Given the description of an element on the screen output the (x, y) to click on. 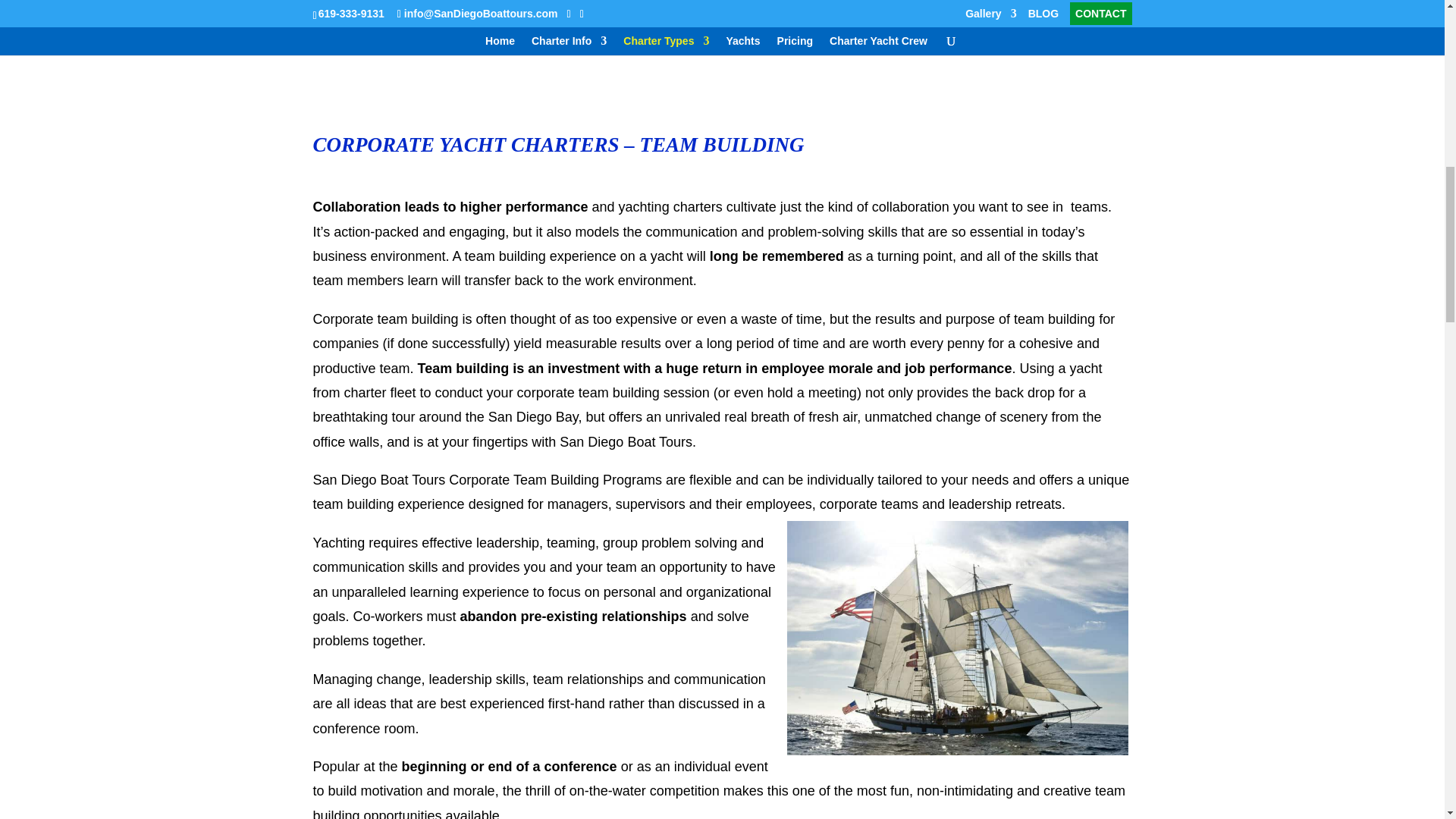
Mentor Graphics Corporate Charter (937, 17)
